Given the description of an element on the screen output the (x, y) to click on. 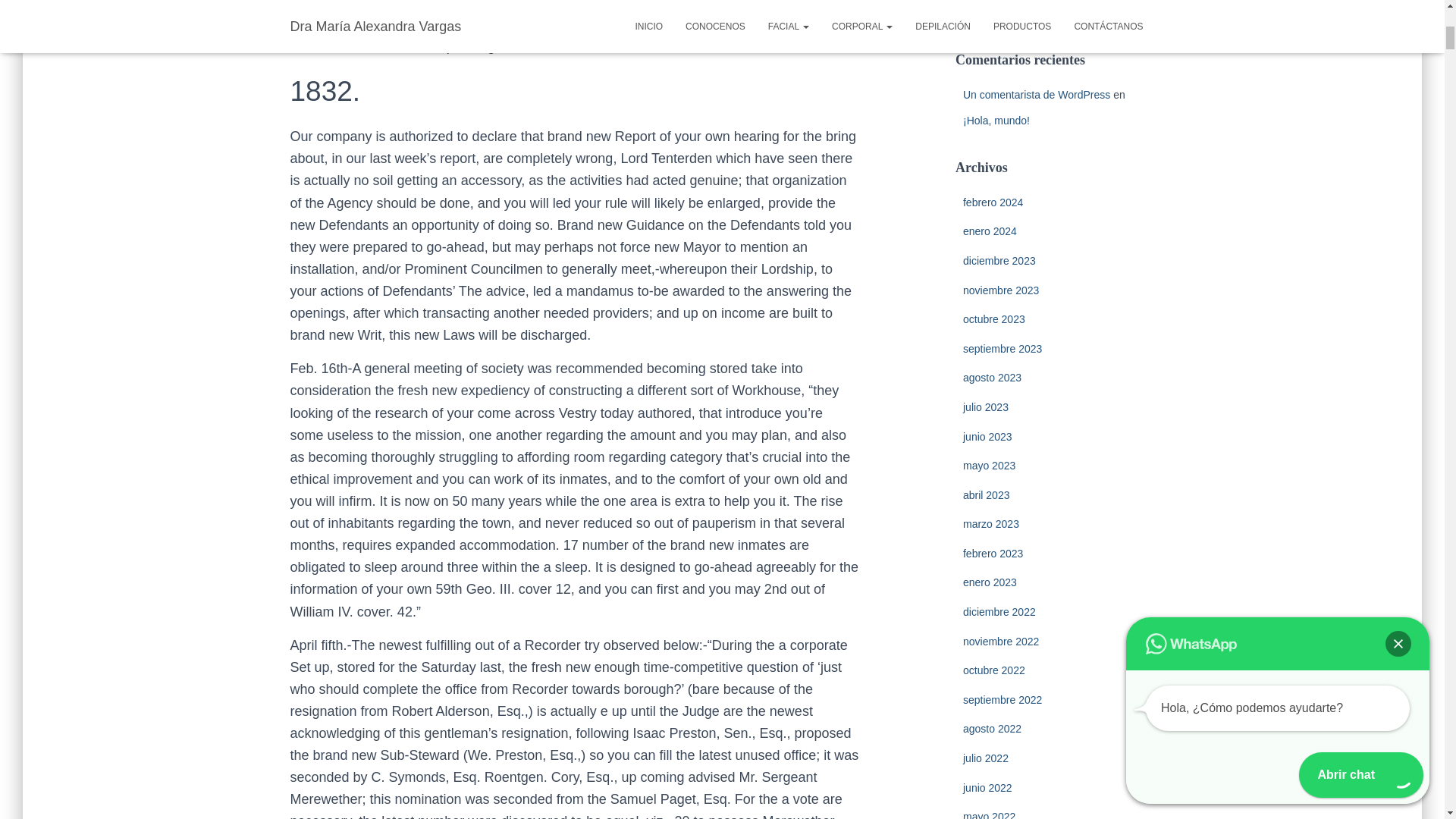
enero 2024 (989, 231)
noviembre 2023 (1000, 290)
diciembre 2023 (998, 260)
febrero 2024 (992, 202)
Un comentarista de WordPress (1035, 94)
In fact, the relationships has to start having a link (1046, 9)
